Given the description of an element on the screen output the (x, y) to click on. 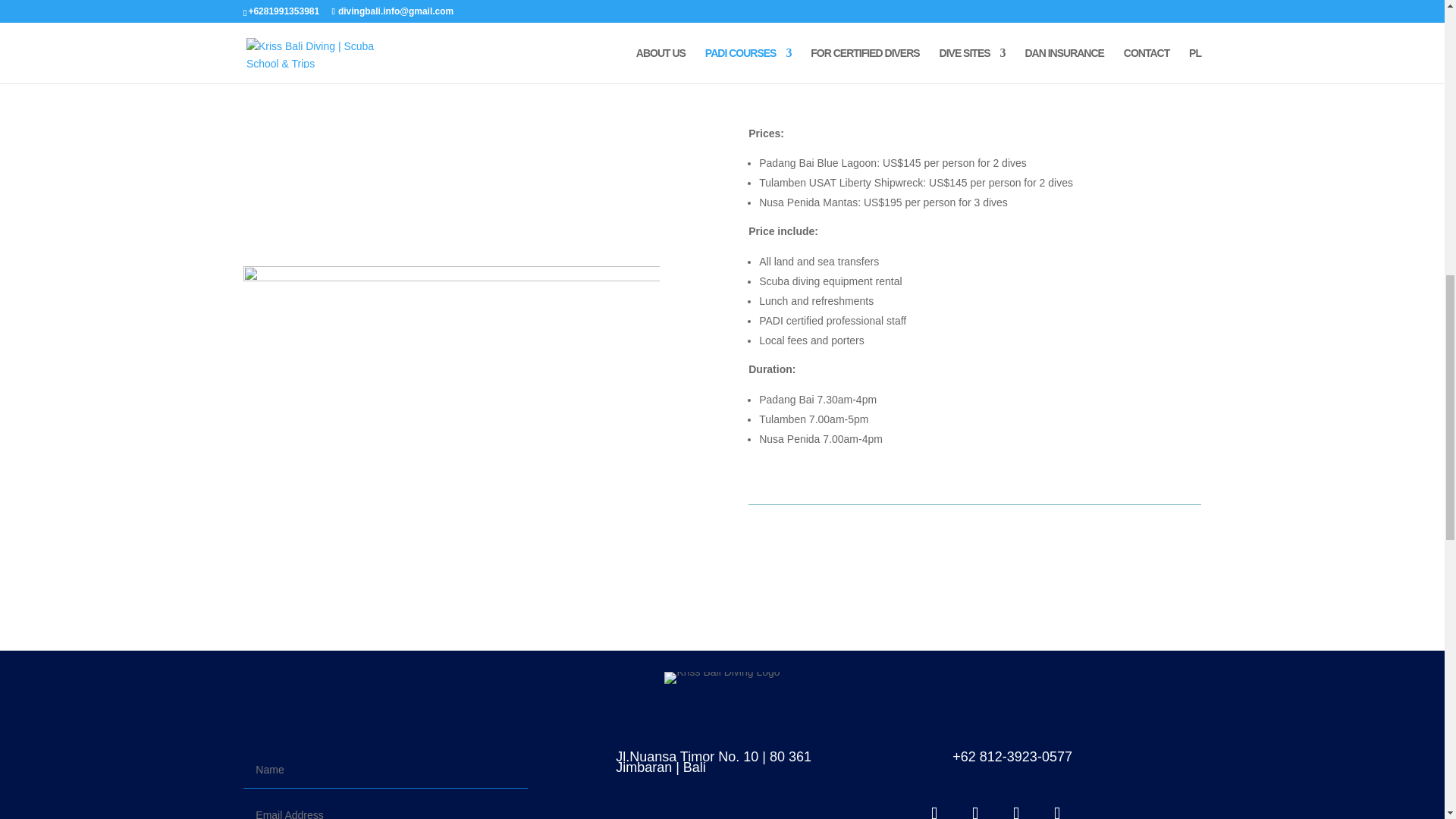
Follow on Youtube (1015, 807)
Follow on Instagram (975, 807)
Follow on Facebook (934, 807)
Follow on Telegram (1056, 807)
